Given the description of an element on the screen output the (x, y) to click on. 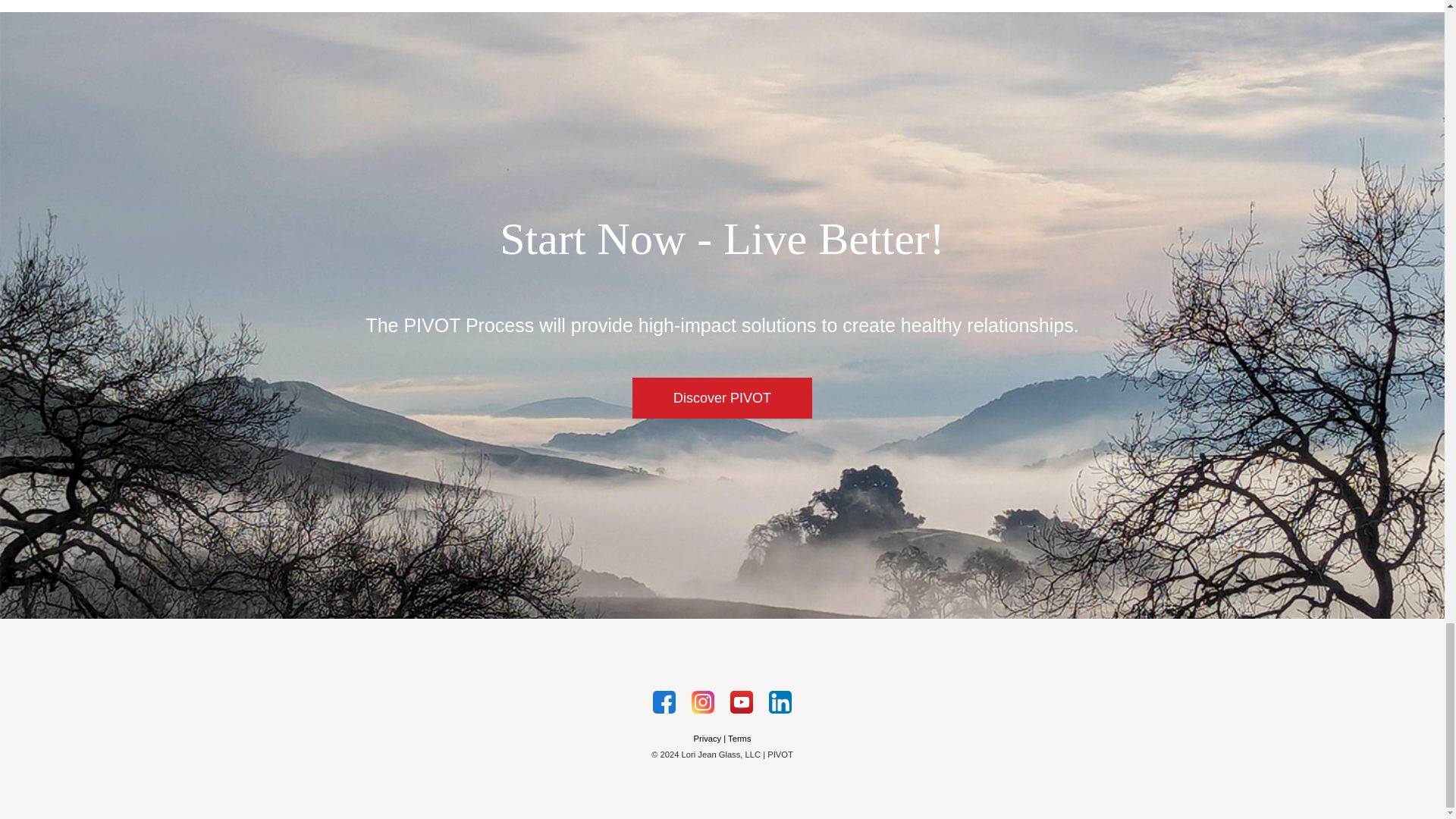
Facebook (663, 700)
Terms of Use (739, 737)
YouTube (741, 700)
Instagram (702, 700)
Linkedin (780, 700)
Discover PIVOT (721, 397)
Privacy Policy (706, 737)
